Given the description of an element on the screen output the (x, y) to click on. 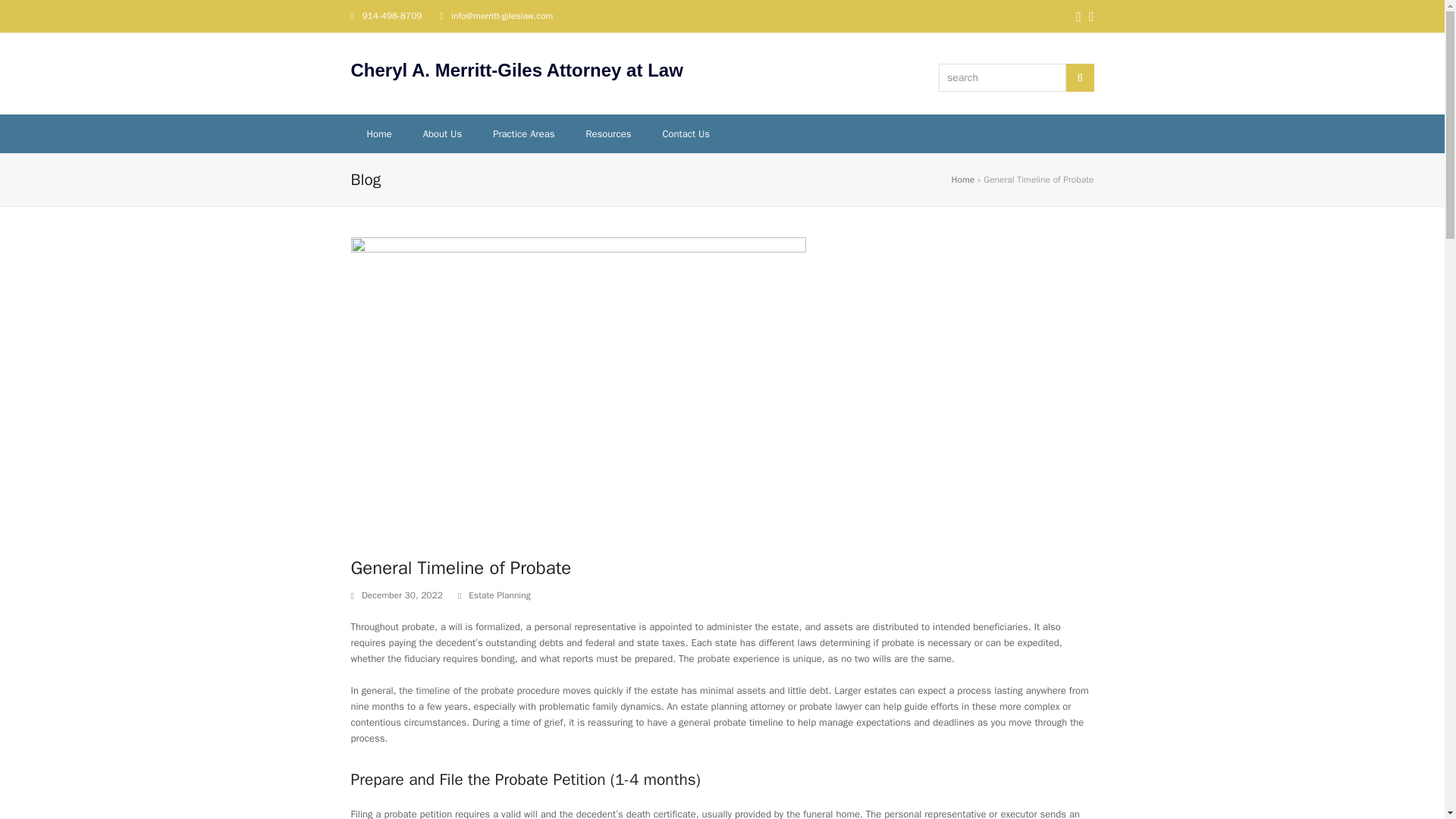
Cheryl A. Merritt-Giles Attorney at Law (516, 69)
Home (379, 134)
914-498-8709 (391, 15)
Resources (608, 134)
About Us (442, 134)
Estate Planning (498, 594)
Contact Us (685, 134)
Search (1079, 77)
Home (963, 179)
Practice Areas (523, 134)
